Given the description of an element on the screen output the (x, y) to click on. 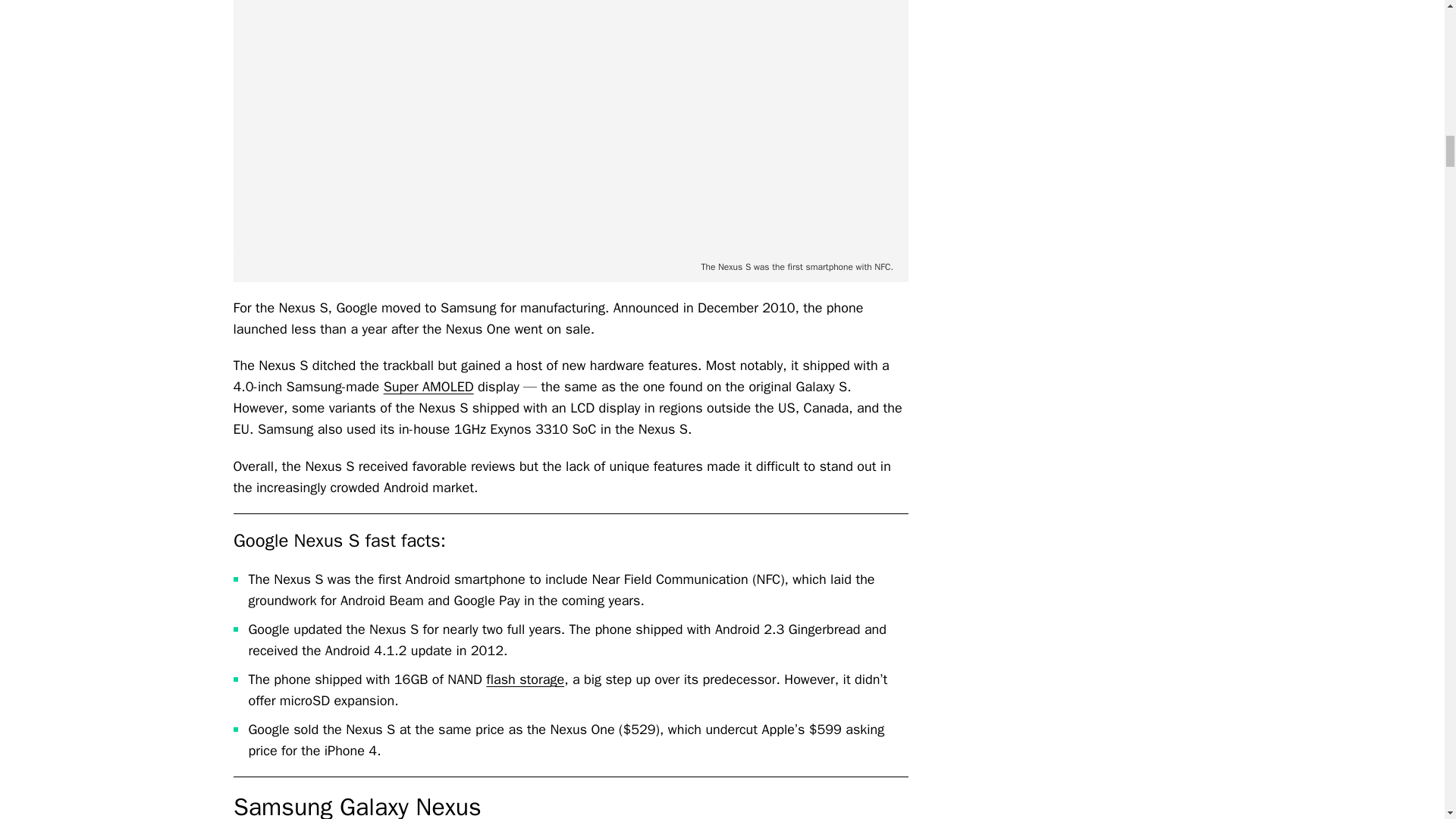
Super AMOLED (429, 386)
flash storage (525, 678)
